Given the description of an element on the screen output the (x, y) to click on. 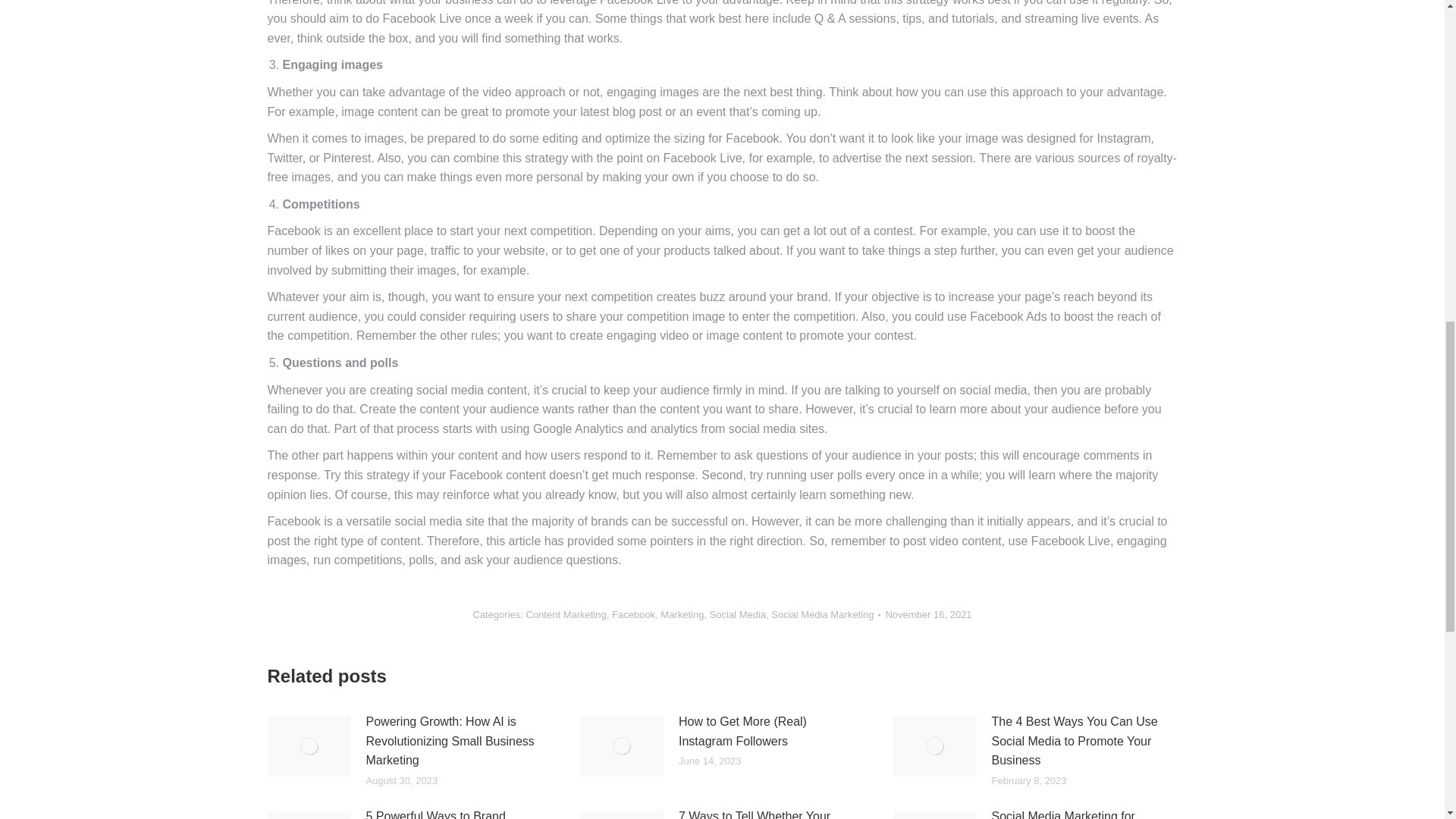
Marketing (682, 614)
Social Media (737, 614)
Content Marketing (566, 614)
7 Ways to Tell Whether Your Content Marketing is Working (767, 812)
November 16, 2021 (928, 614)
Social Media Marketing (822, 614)
8:30 am (928, 614)
Social Media Marketing for Small Businesses 101 (1080, 812)
5 Powerful Ways to Brand Yourself on Social Media (453, 812)
Facebook (633, 614)
